Given the description of an element on the screen output the (x, y) to click on. 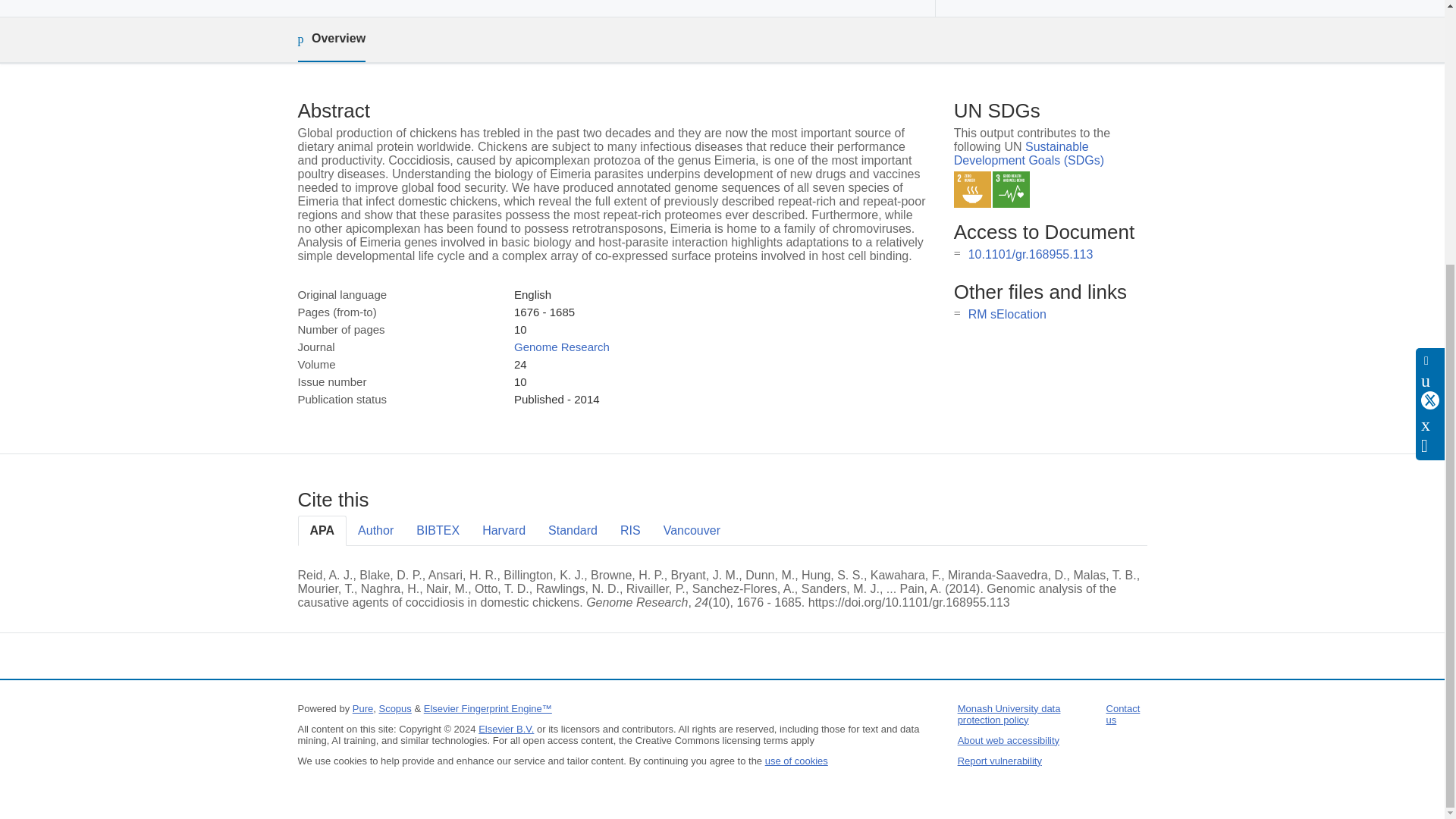
use of cookies (796, 760)
RM sElocation (1007, 314)
Report vulnerability (1000, 760)
Elsevier B.V. (506, 728)
About web accessibility (1008, 740)
Pure (362, 708)
SDG 2 - Zero Hunger (972, 189)
SDG 3 - Good Health and Well-being (1010, 189)
Overview (331, 39)
Scopus (394, 708)
Genome Research (561, 346)
Monash University data protection policy (1009, 713)
